Given the description of an element on the screen output the (x, y) to click on. 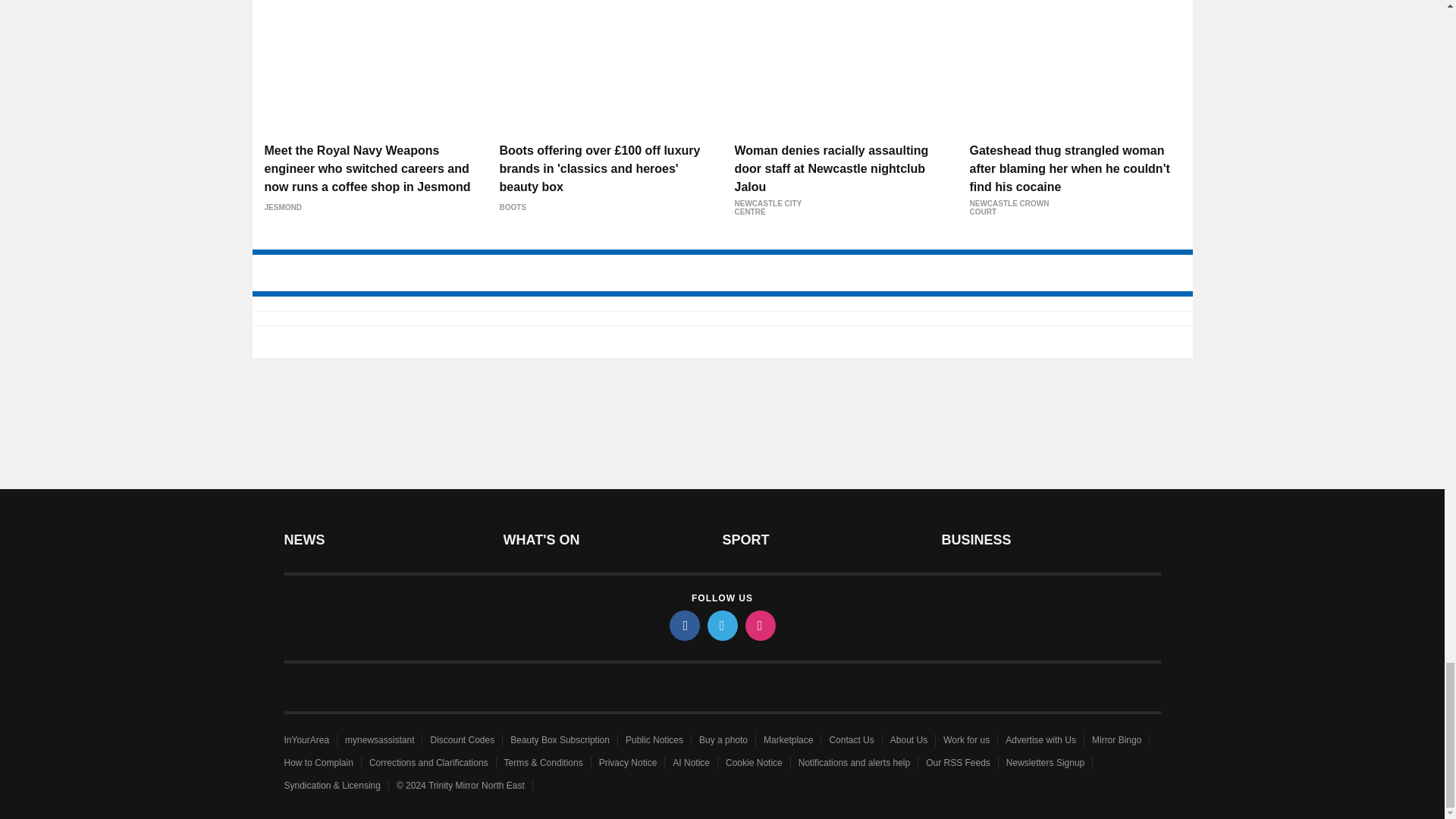
instagram (759, 625)
twitter (721, 625)
facebook (683, 625)
